Given the description of an element on the screen output the (x, y) to click on. 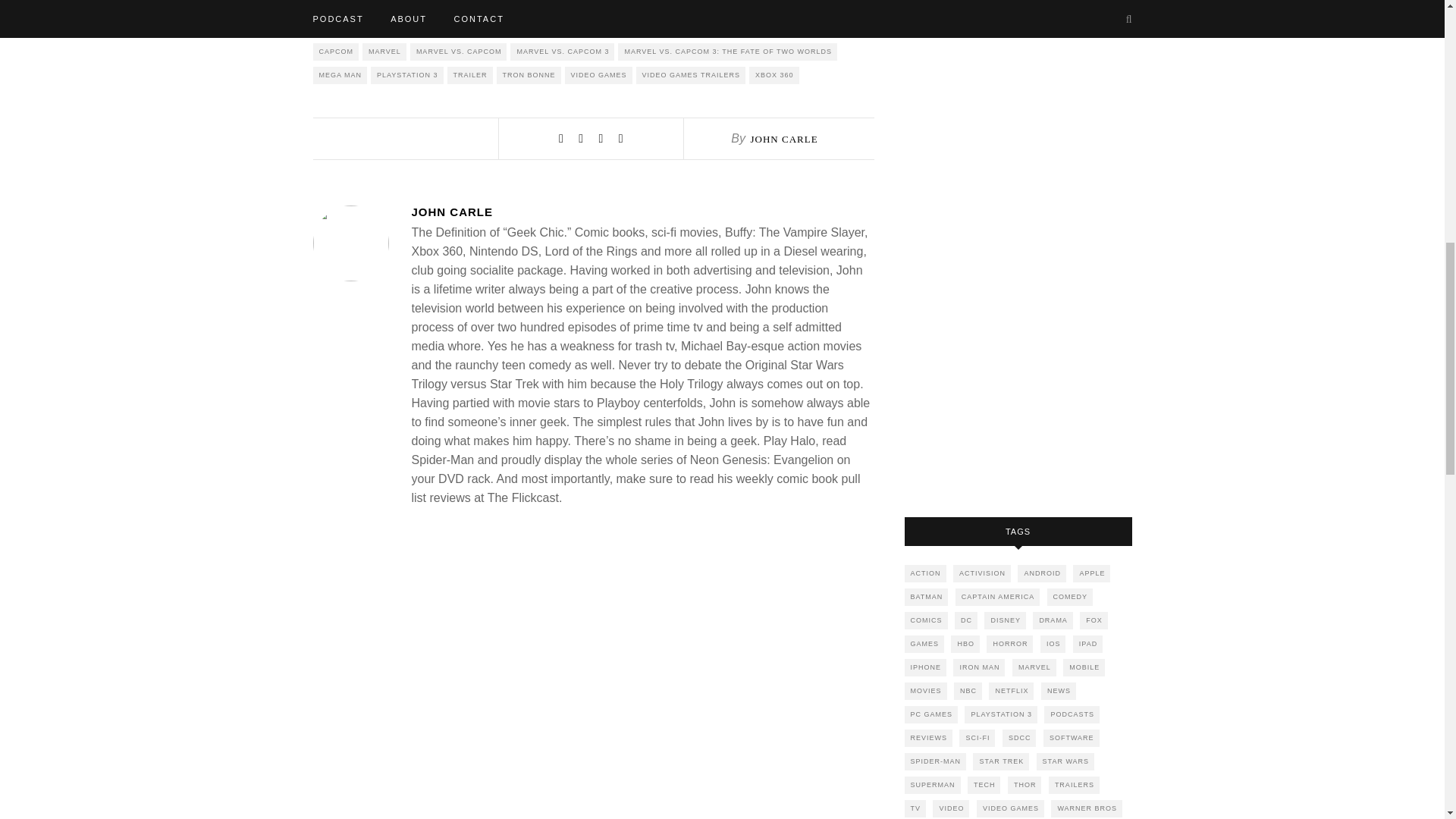
MARVEL VS. CAPCOM 3: THE FATE OF TWO WORLDS (727, 51)
TRAILER (469, 75)
CAPCOM (335, 51)
VIDEO GAMES (597, 75)
MARVEL VS. CAPCOM 3 (562, 51)
XBOX 360 (774, 75)
VIDEO GAMES TRAILERS (690, 75)
PLAYSTATION 3 (407, 75)
TRON BONNE (528, 75)
Posts by John Carle (641, 211)
Posts by John Carle (782, 138)
JOHN CARLE (782, 138)
ACTION (924, 573)
MEGA MAN (339, 75)
MARVEL (384, 51)
